Given the description of an element on the screen output the (x, y) to click on. 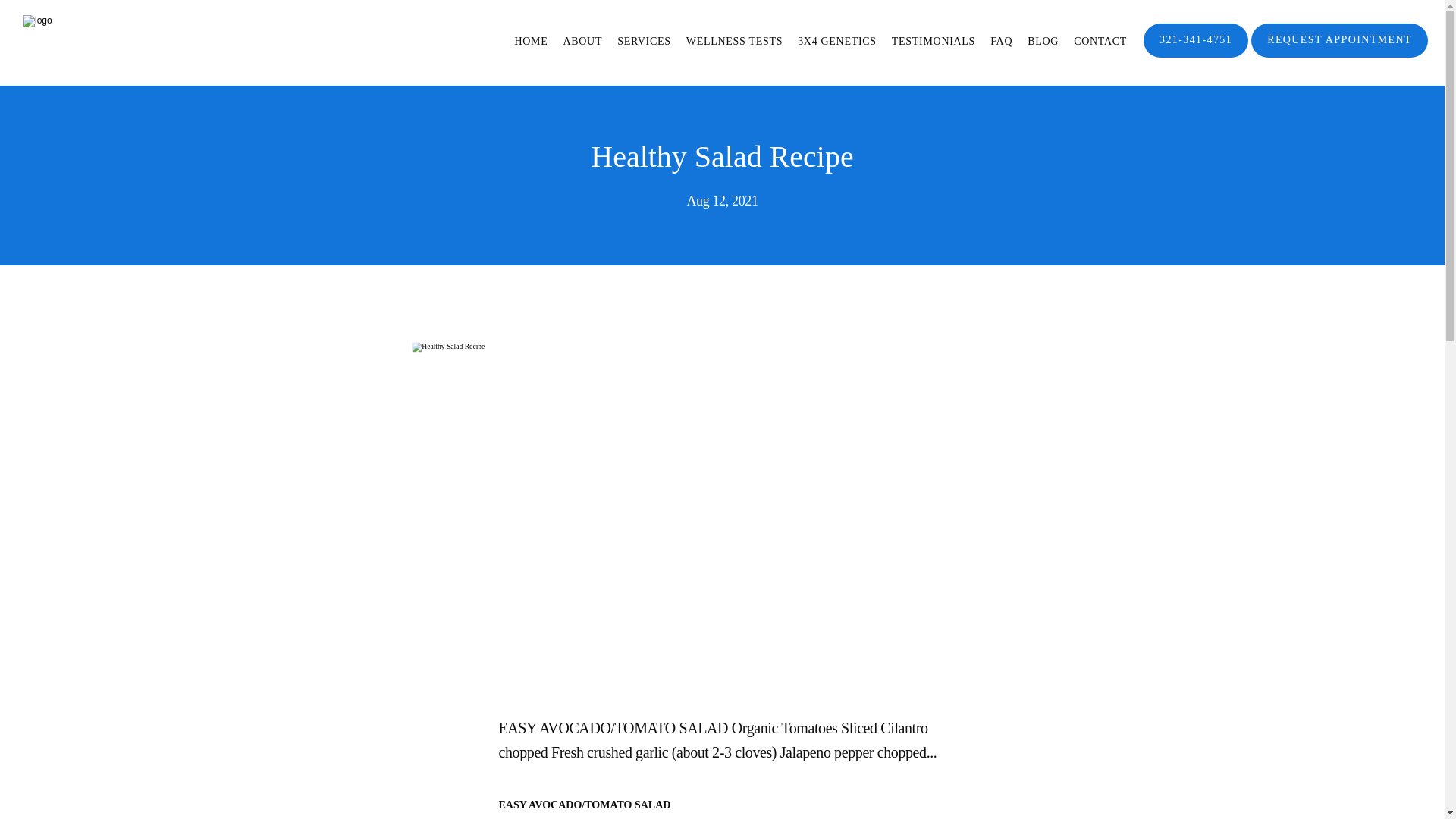
CONTACT (1100, 41)
FAQ (1000, 41)
TESTIMONIALS (933, 41)
321-341-4751 (1195, 55)
ABOUT (582, 41)
HOME (530, 41)
SERVICES (644, 41)
3X4 GENETICS (836, 41)
BLOG (1042, 41)
REQUEST APPOINTMENT (1339, 55)
